Given the description of an element on the screen output the (x, y) to click on. 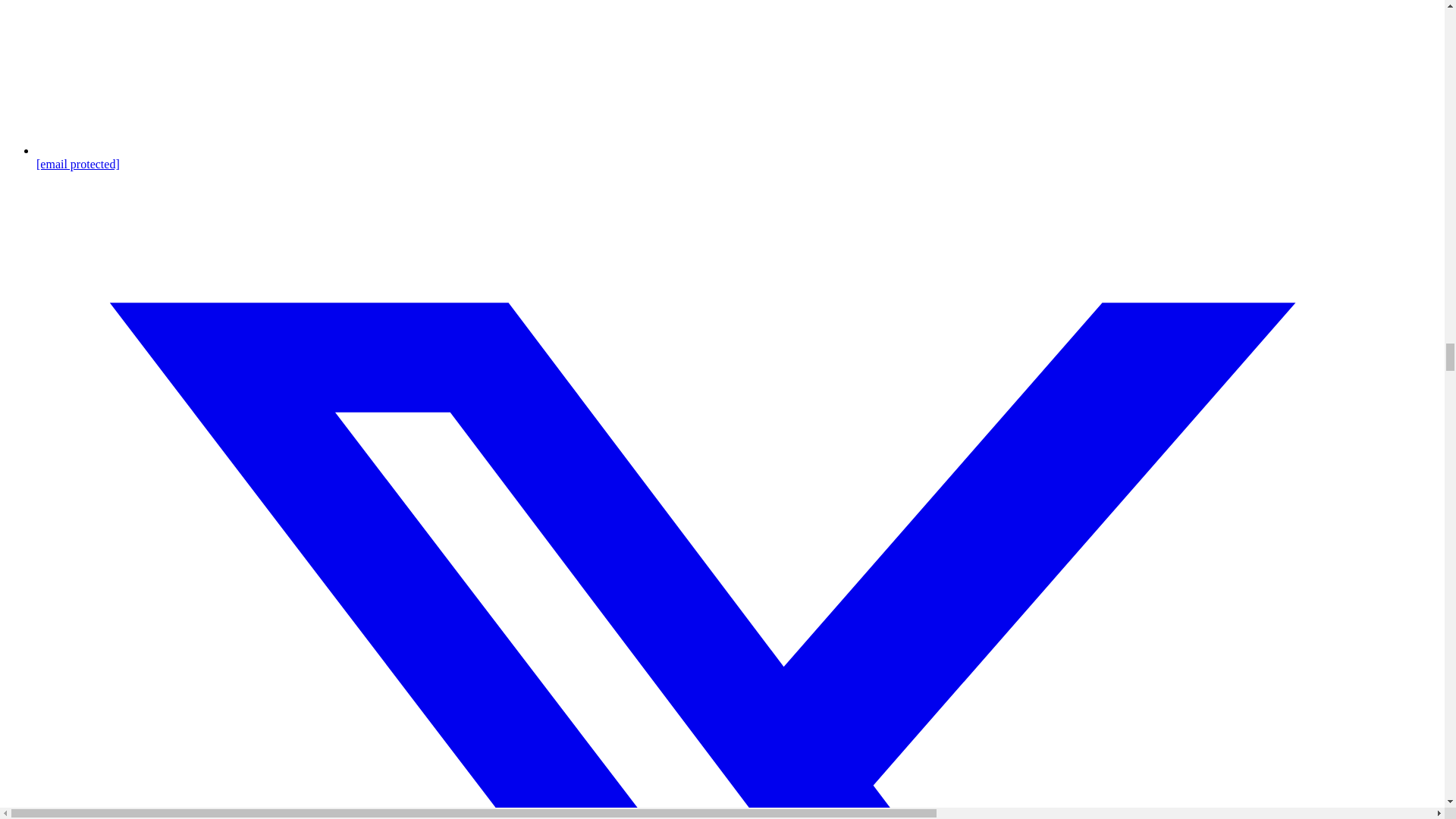
Email (737, 157)
